Given the description of an element on the screen output the (x, y) to click on. 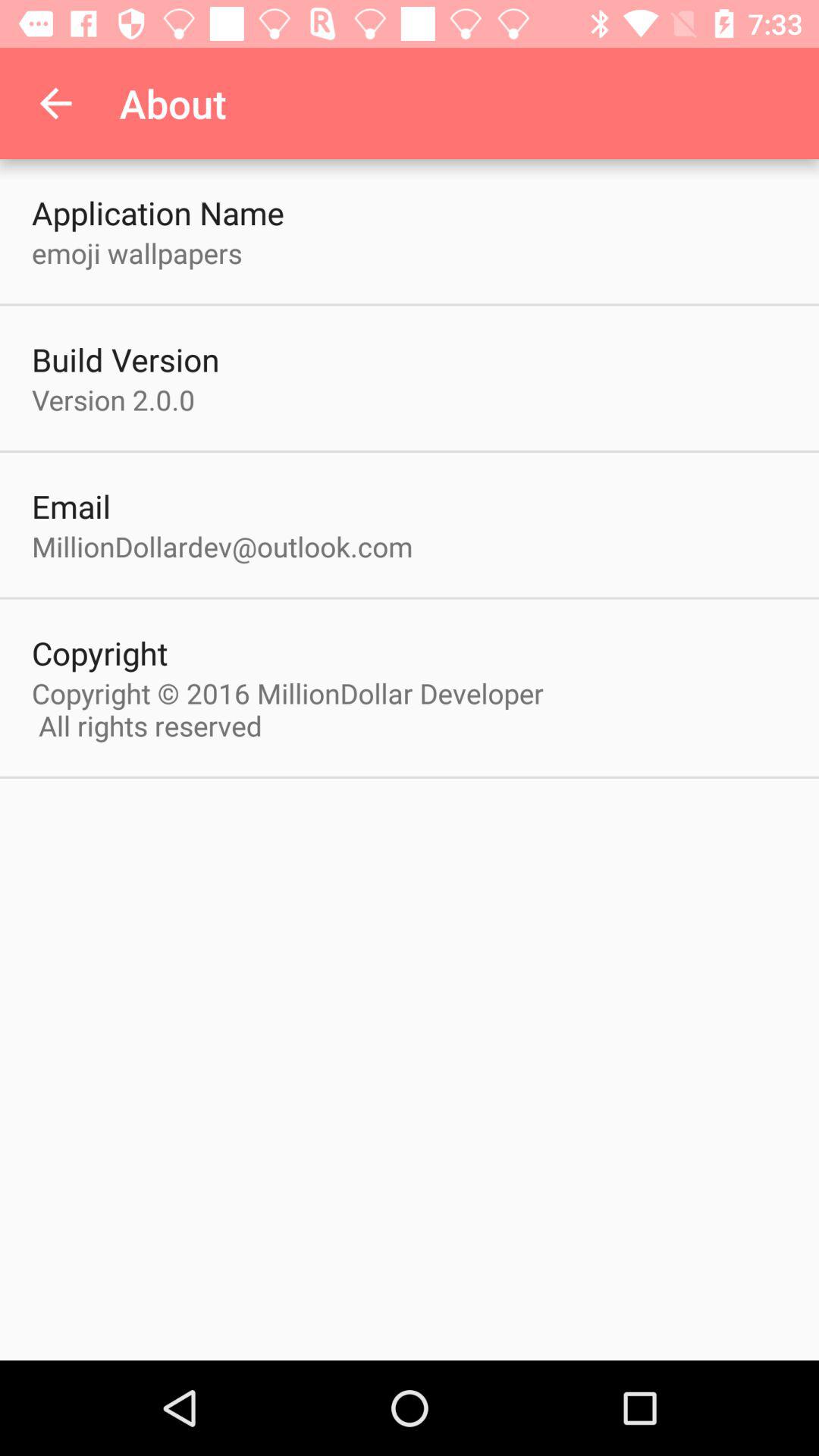
launch the application name icon (157, 212)
